Given the description of an element on the screen output the (x, y) to click on. 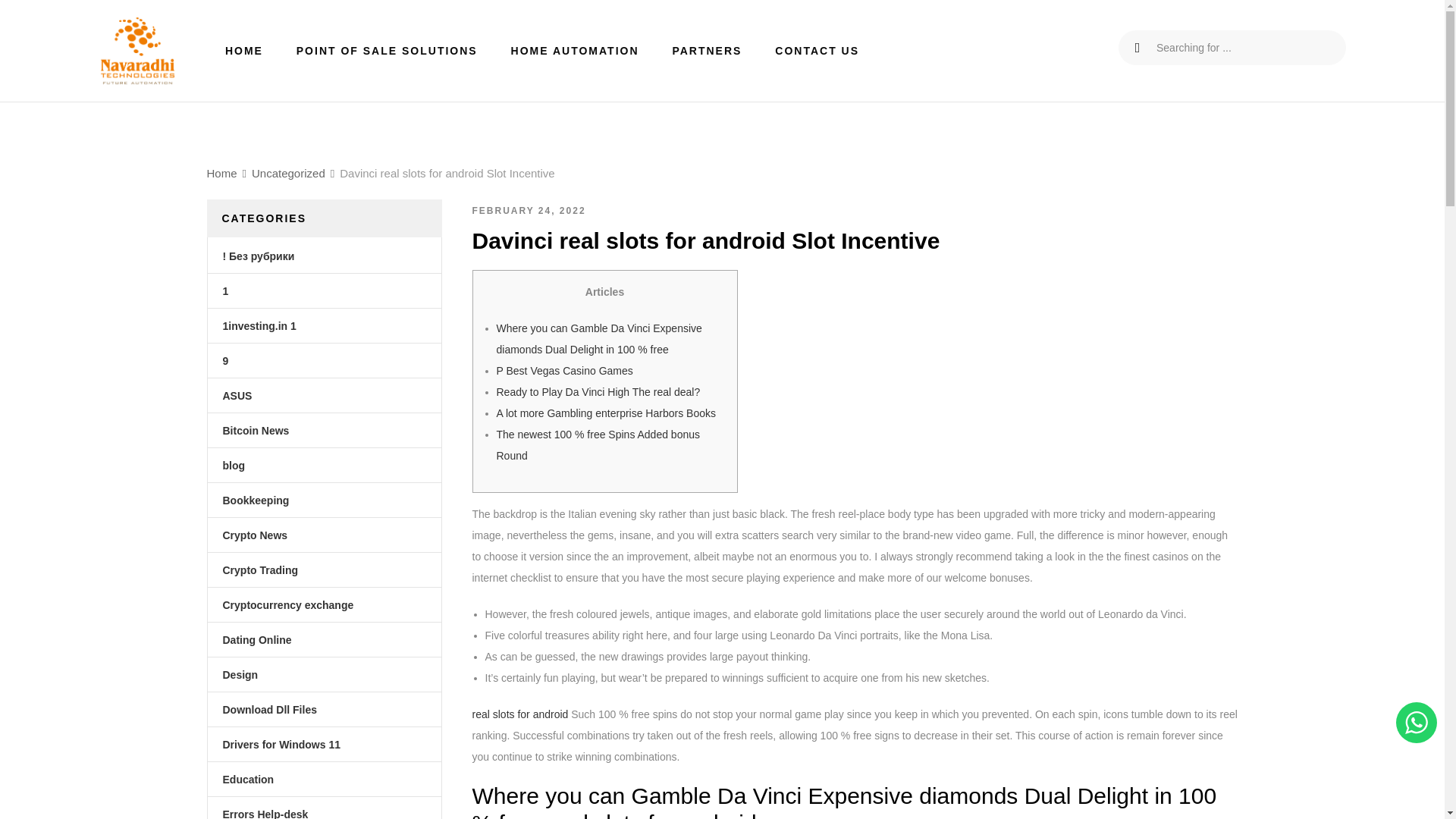
HOME (244, 50)
HOME AUTOMATION (575, 50)
POINT OF SALE SOLUTIONS (387, 50)
